Given the description of an element on the screen output the (x, y) to click on. 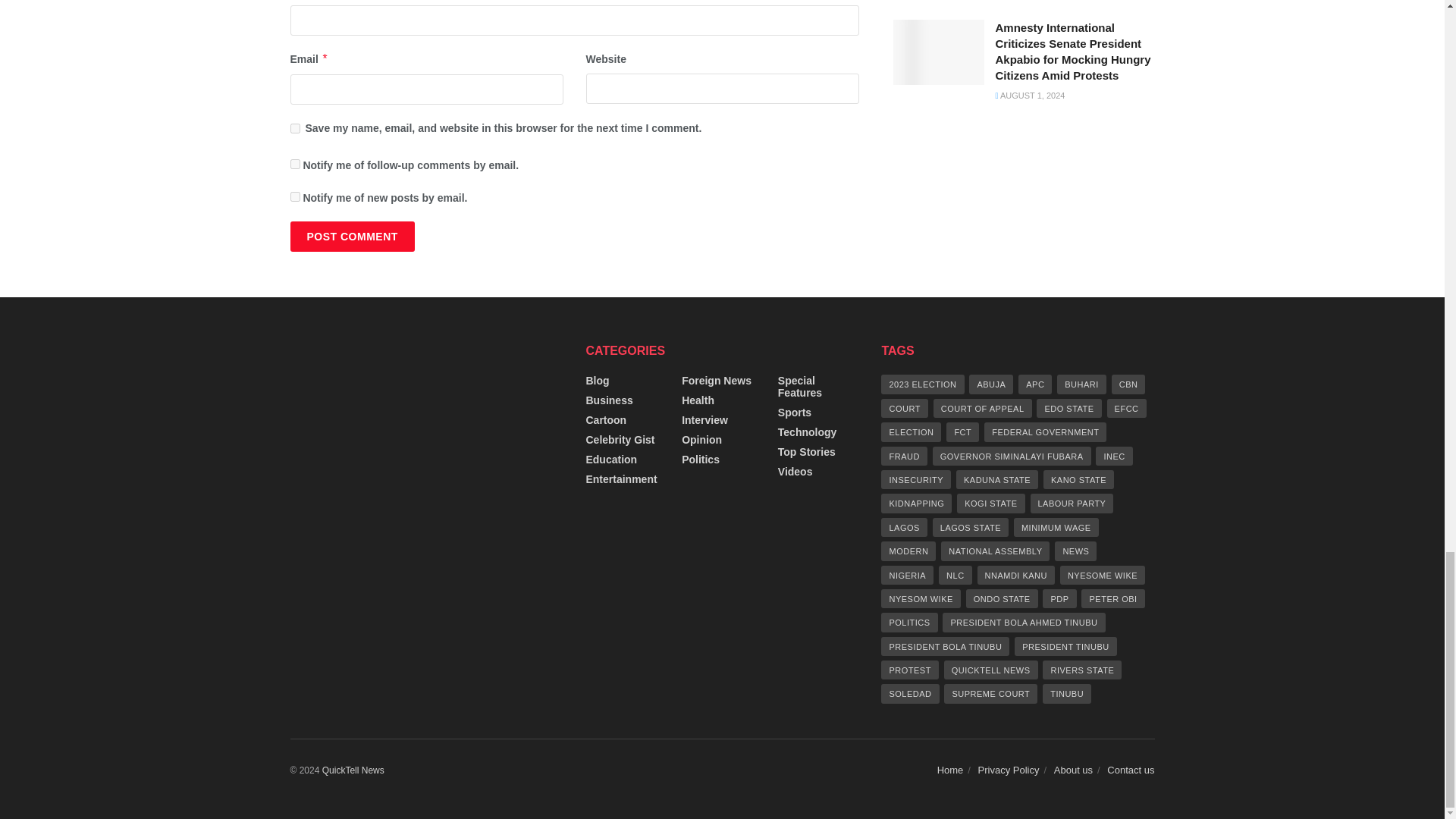
Post Comment (351, 236)
subscribe (294, 196)
subscribe (294, 163)
yes (294, 128)
Quicktell News (352, 769)
